Given the description of an element on the screen output the (x, y) to click on. 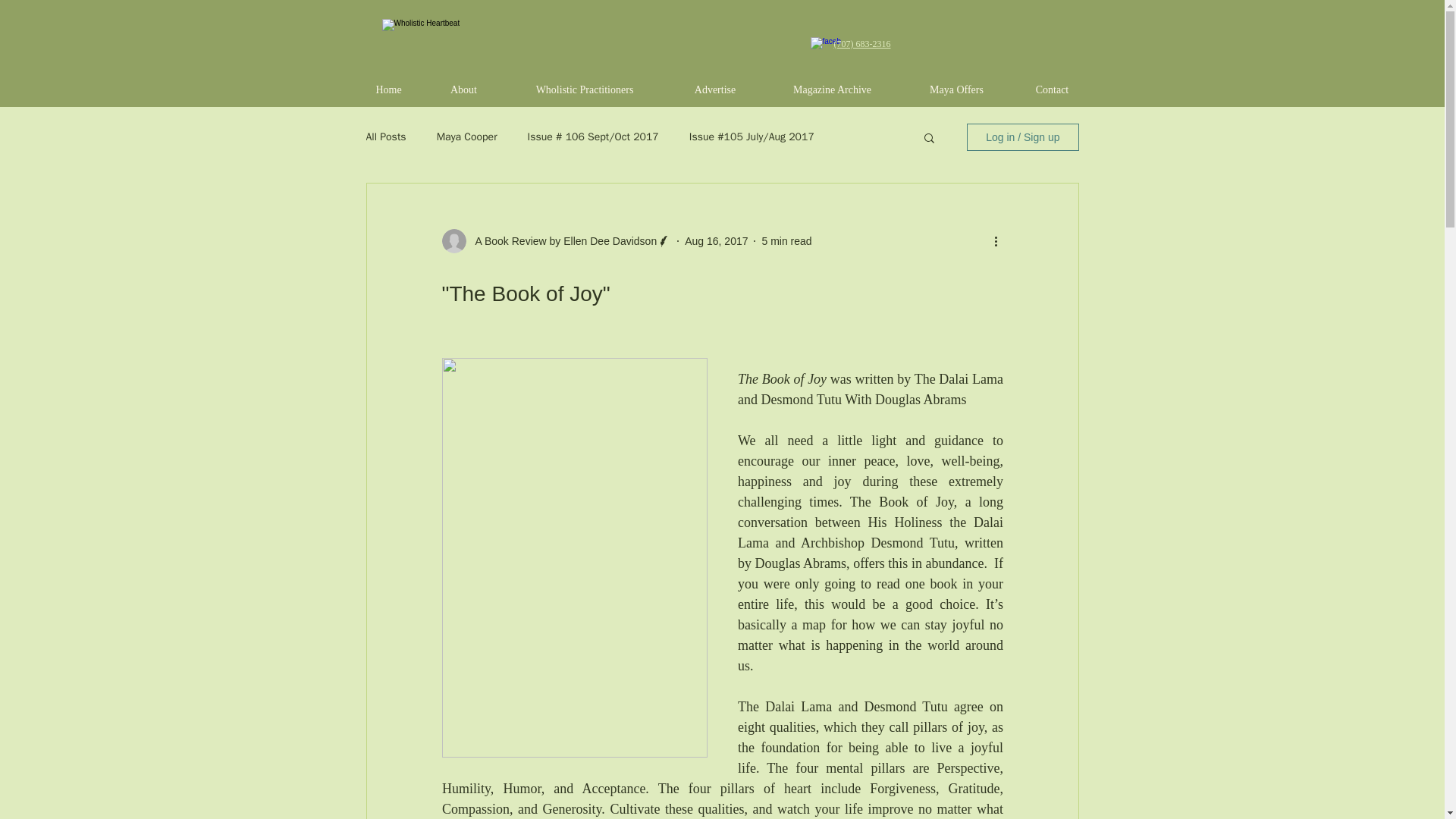
Home (388, 89)
Wholistic Practitioners (584, 89)
All Posts (385, 137)
Aug 16, 2017 (716, 241)
Advertise (714, 89)
5 min read (785, 241)
Magazine Archive (831, 89)
Contact (1051, 89)
Maya Cooper (466, 137)
Maya Offers (956, 89)
